Given the description of an element on the screen output the (x, y) to click on. 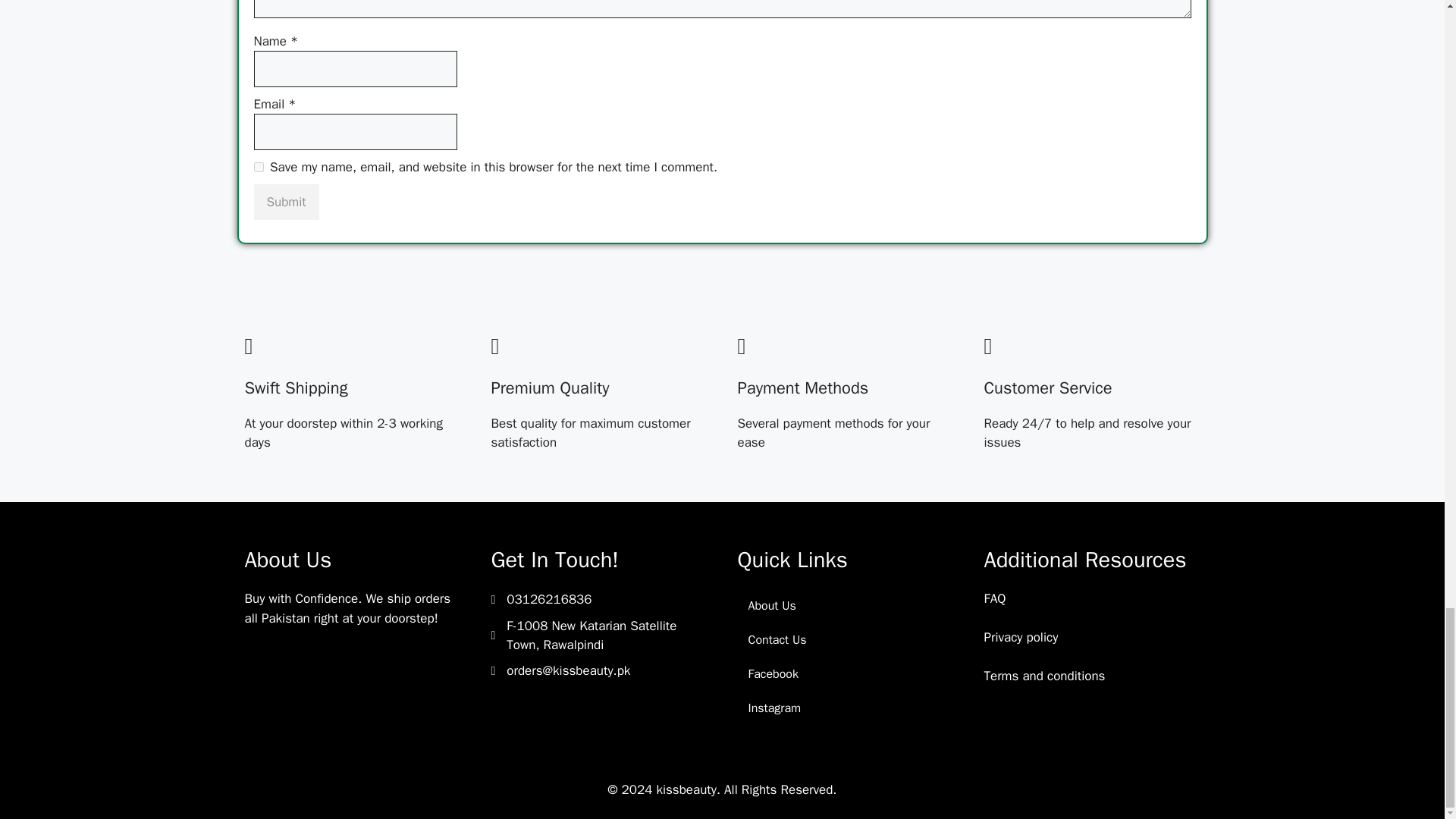
yes (258, 166)
03126216836 (548, 599)
FAQ (995, 598)
About Us (844, 605)
Submit (285, 202)
Contact Us (844, 639)
Instagram (844, 707)
Terms and conditions (1044, 675)
Privacy policy (1021, 637)
F-1008 New Katarian Satellite Town, Rawalpindi (606, 635)
Submit (285, 202)
Facebook (844, 674)
